Given the description of an element on the screen output the (x, y) to click on. 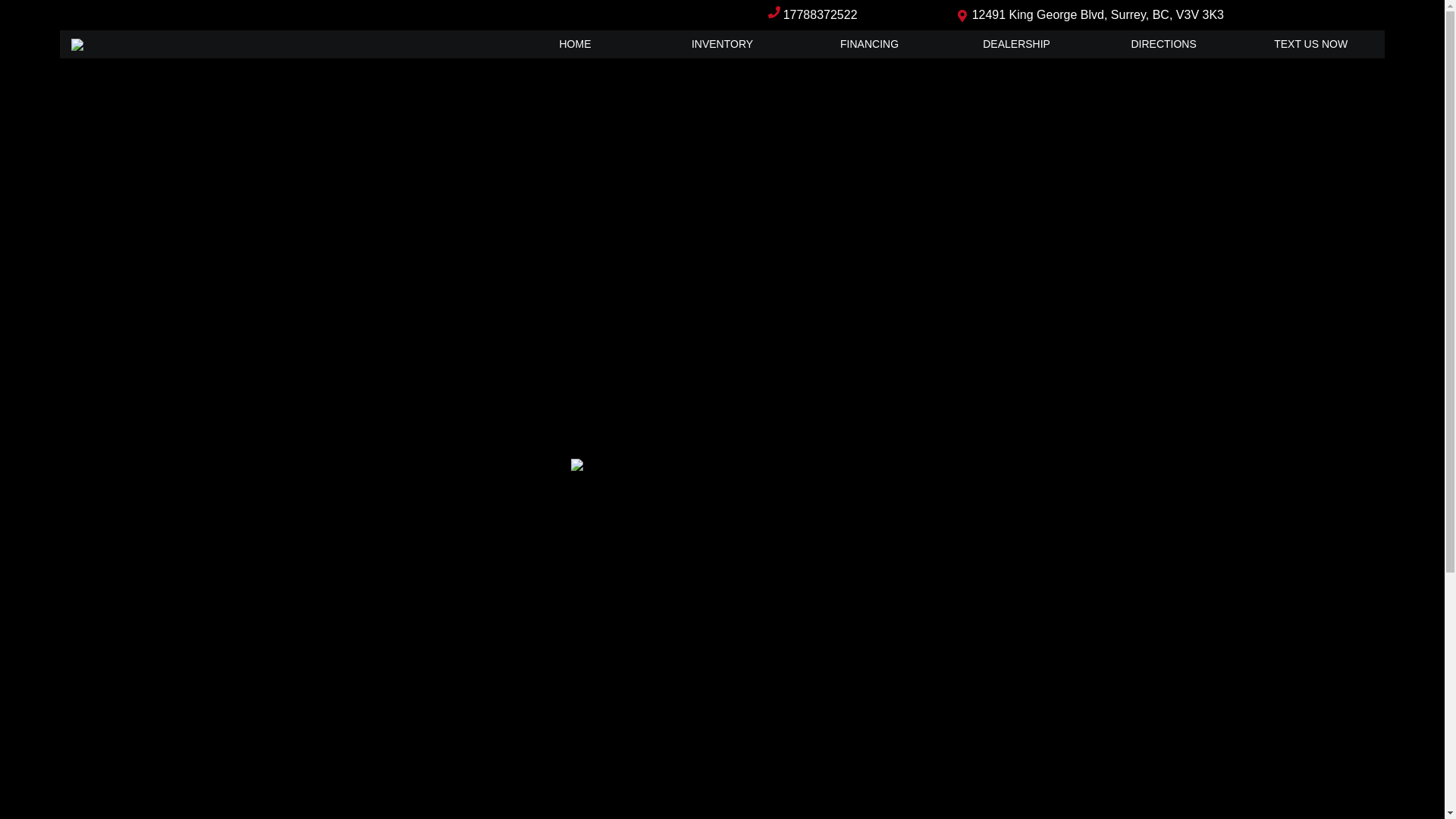
FINANCING Element type: text (869, 44)
TEXT US NOW Element type: text (1310, 44)
DIRECTIONS Element type: text (1163, 44)
17788372522 Element type: text (820, 15)
DEALERSHIP Element type: text (1016, 44)
HOME Element type: text (574, 44)
INVENTORY Element type: text (722, 44)
